Given the description of an element on the screen output the (x, y) to click on. 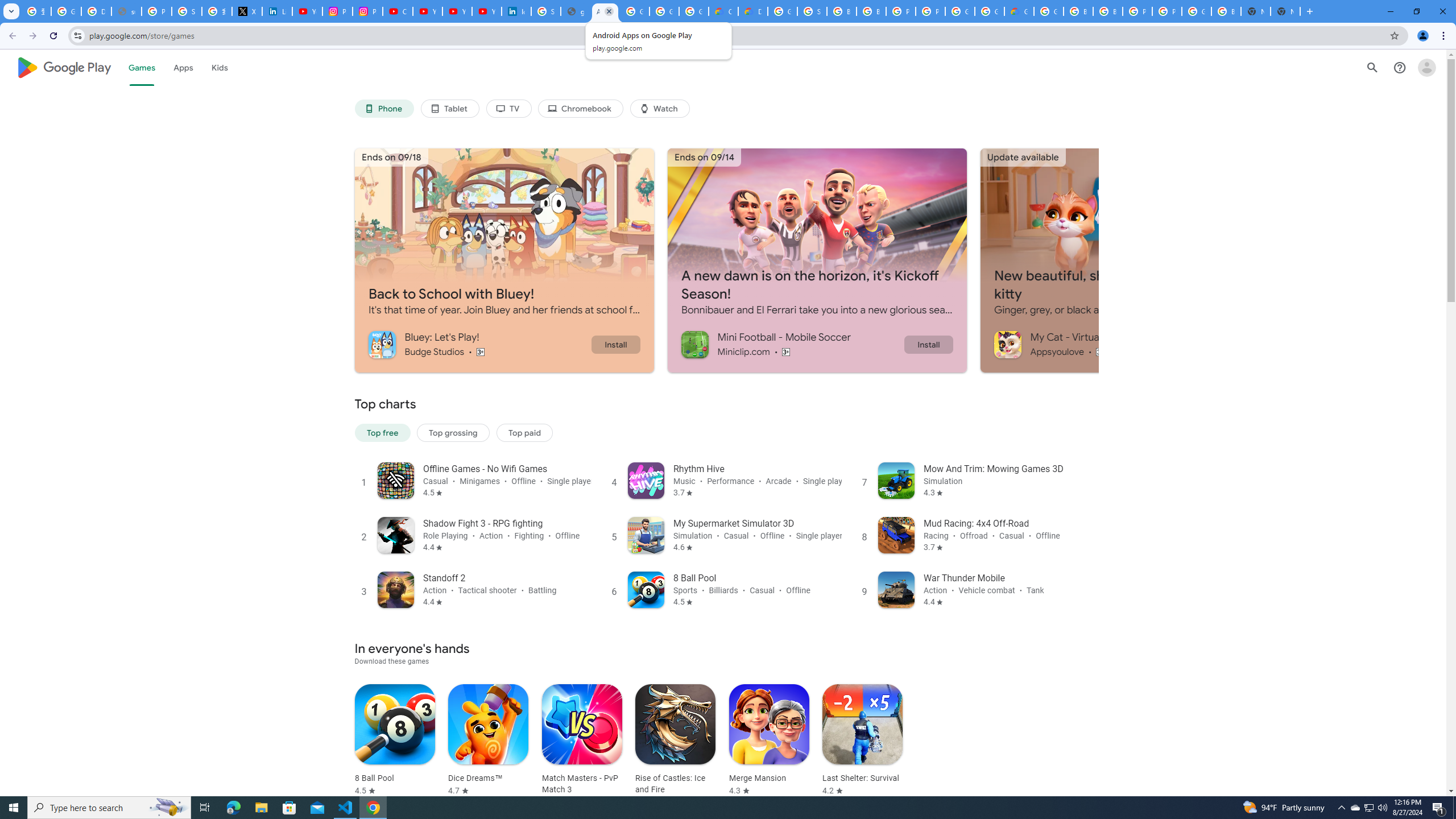
Browse Chrome as a guest - Computer - Google Chrome Help (871, 11)
Top grossing (452, 432)
Content rating Rated for 3+ (1100, 351)
YouTube Content Monetization Policies - How YouTube Works (306, 11)
New Tab (1284, 11)
Google Cloud Platform (989, 11)
Chromebook (581, 108)
